Given the description of an element on the screen output the (x, y) to click on. 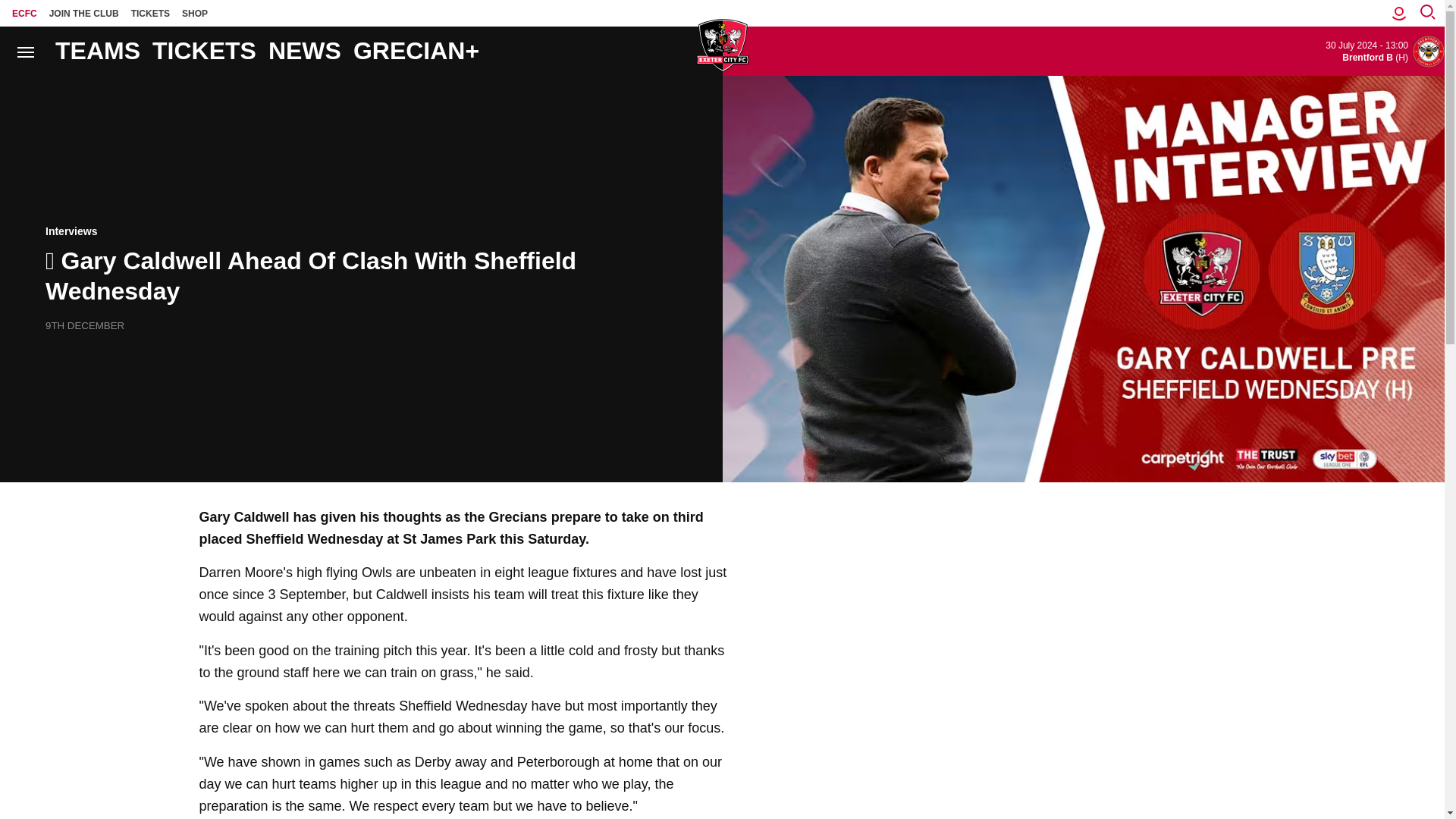
JOIN THE CLUB (84, 13)
TICKETS (150, 13)
ECFC (24, 13)
SHOP (195, 13)
